Given the description of an element on the screen output the (x, y) to click on. 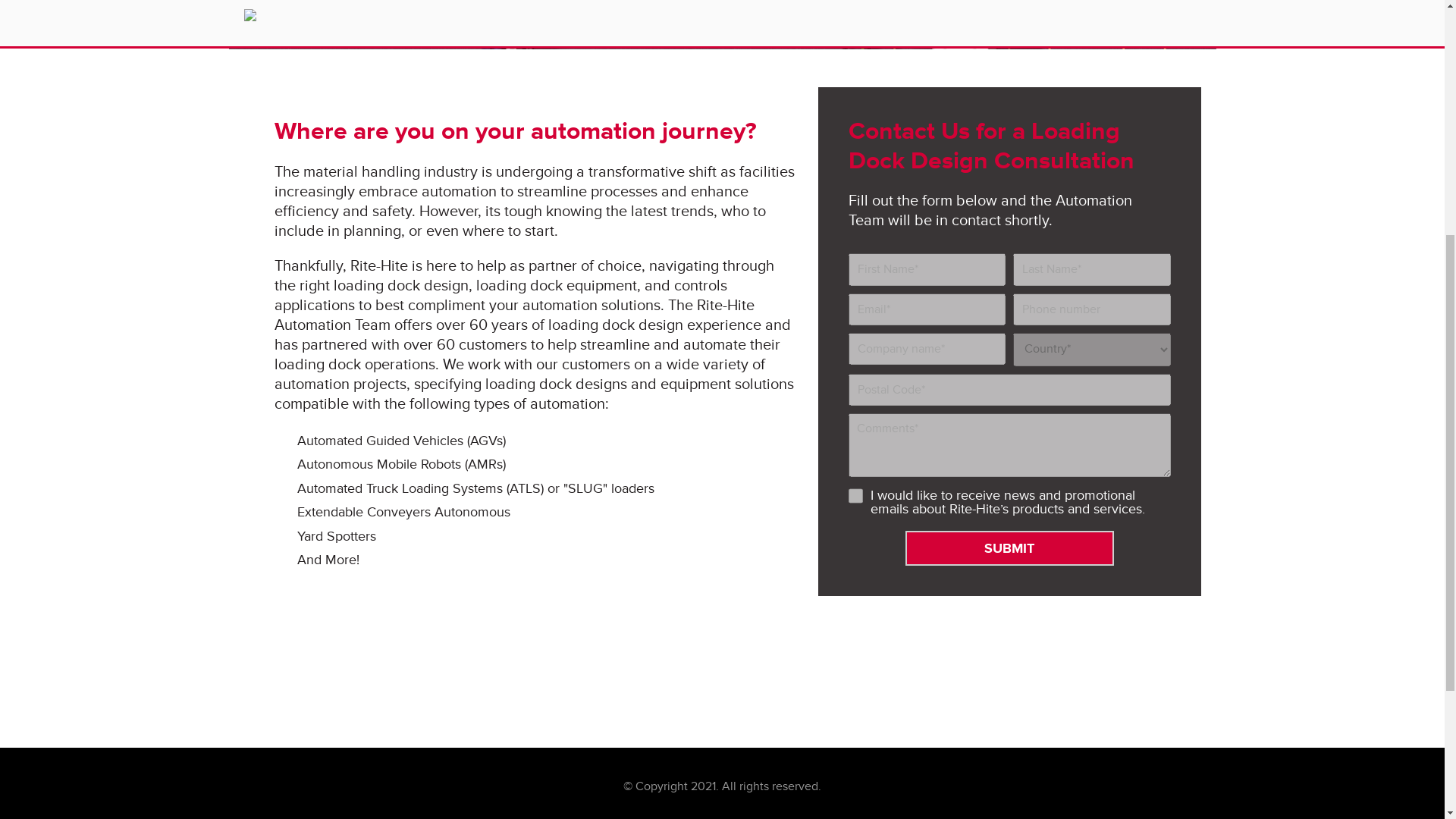
COMPLIANCE STANDARDS (946, 321)
SUBMIT (1009, 548)
SUBMIT (1009, 548)
COOKIE POLICY (447, 321)
CA SUPPLY CHAIN TRANSPARENCY (739, 321)
4607434 (855, 495)
ARBON EQUIPMENT (1107, 321)
TERMS OF USE (565, 321)
PRIVACY POLICY (325, 321)
